Given the description of an element on the screen output the (x, y) to click on. 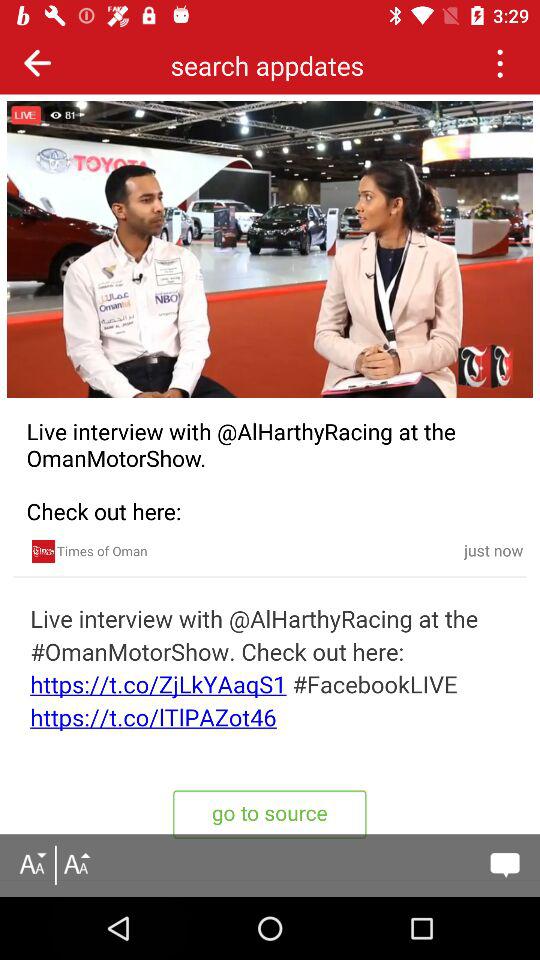
opens a chat window (504, 865)
